Given the description of an element on the screen output the (x, y) to click on. 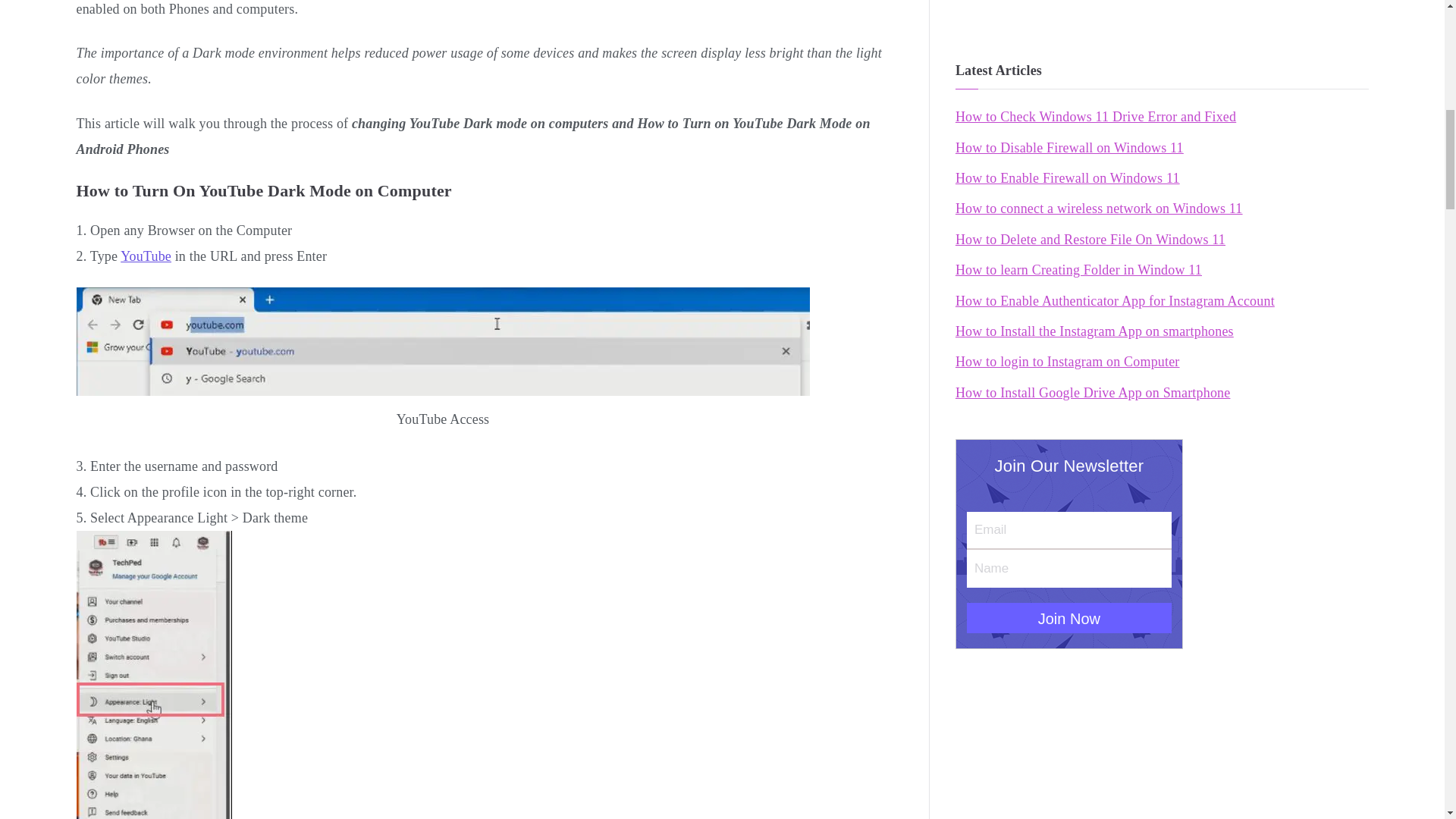
Advertisement (1161, 9)
Join Now (1069, 617)
